Given the description of an element on the screen output the (x, y) to click on. 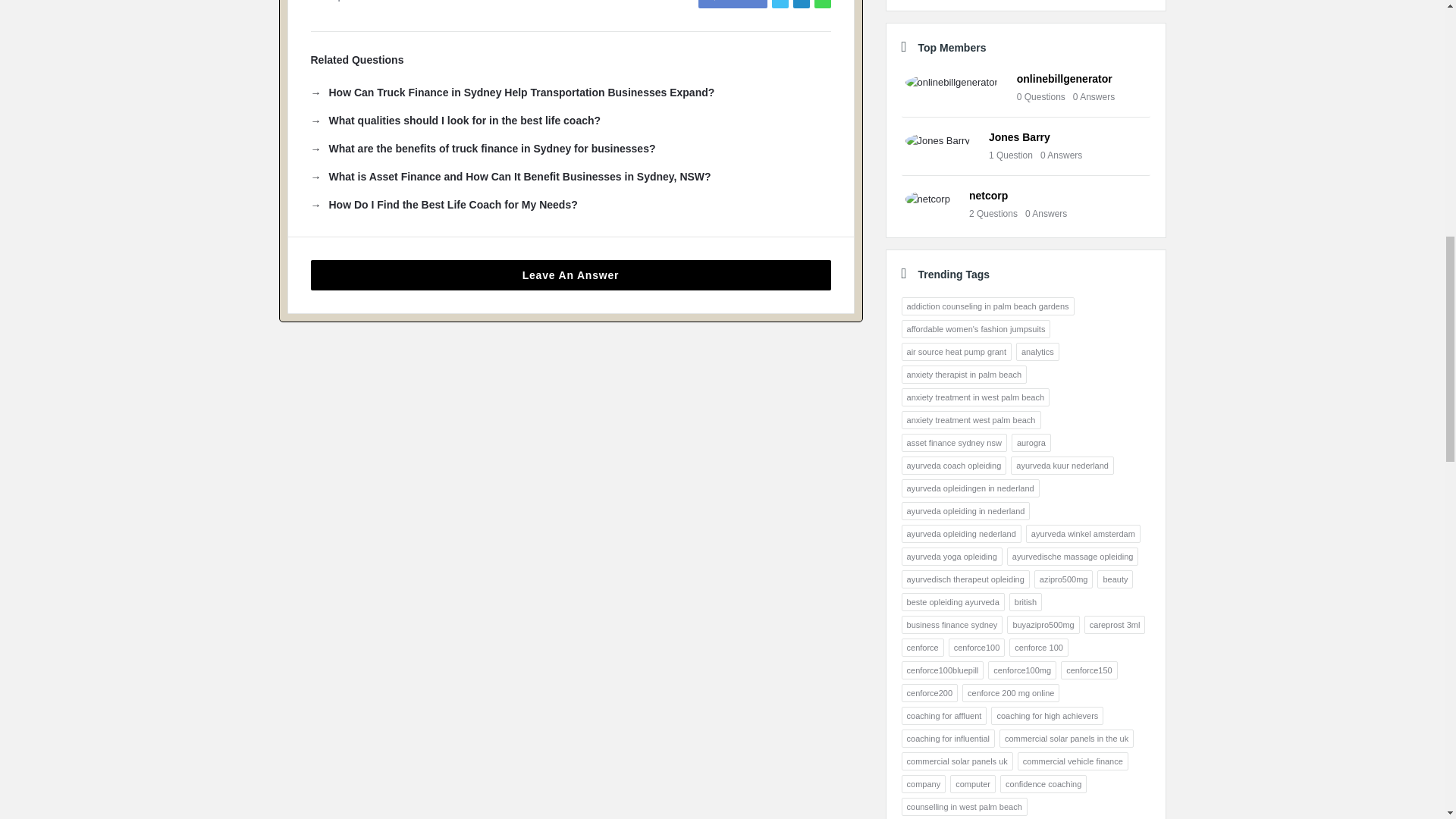
What qualities should I look for in the best life coach? (456, 120)
